Given the description of an element on the screen output the (x, y) to click on. 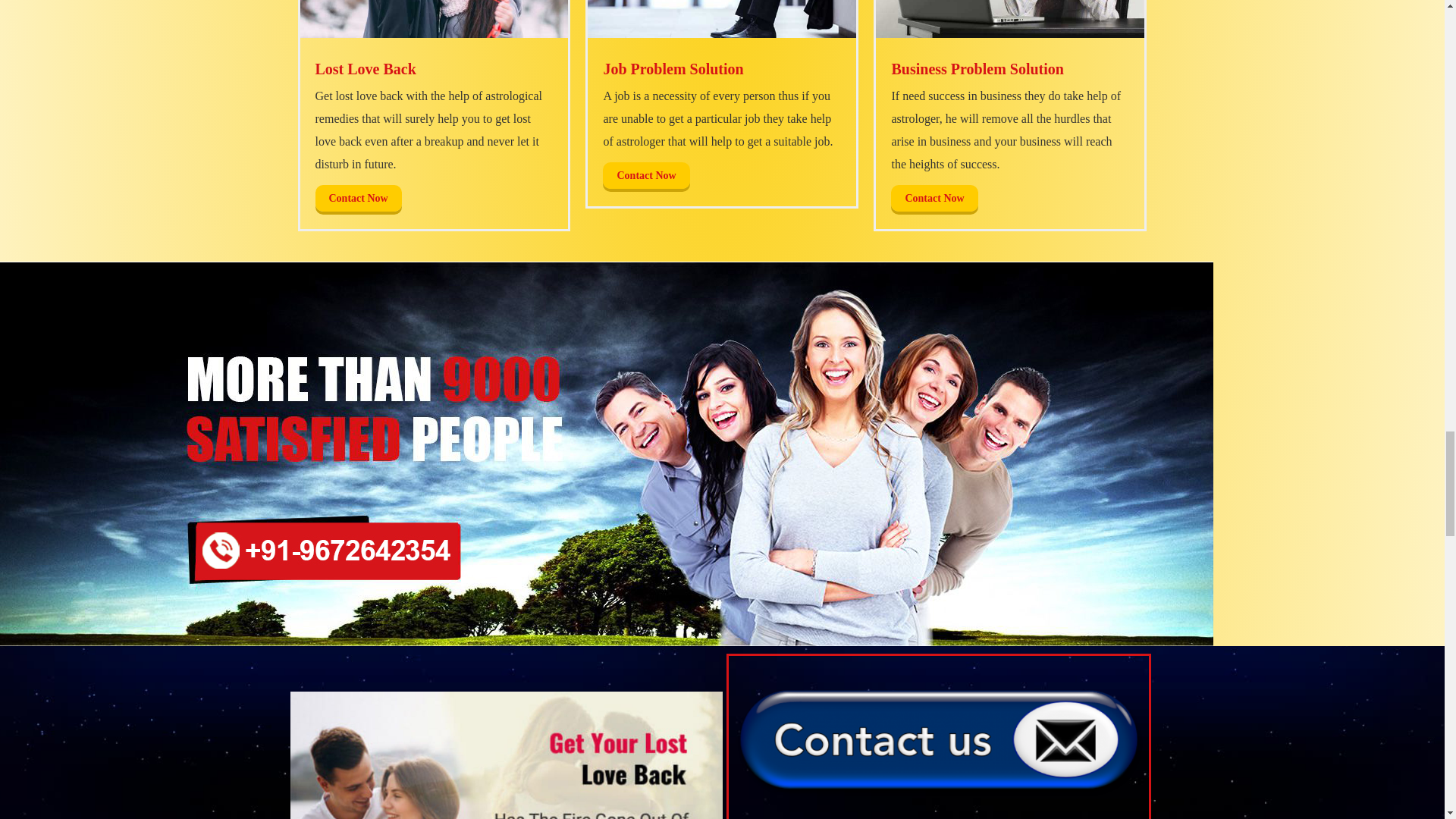
Contact Now (645, 175)
Contact Now (358, 198)
Contact Now (933, 198)
